Given the description of an element on the screen output the (x, y) to click on. 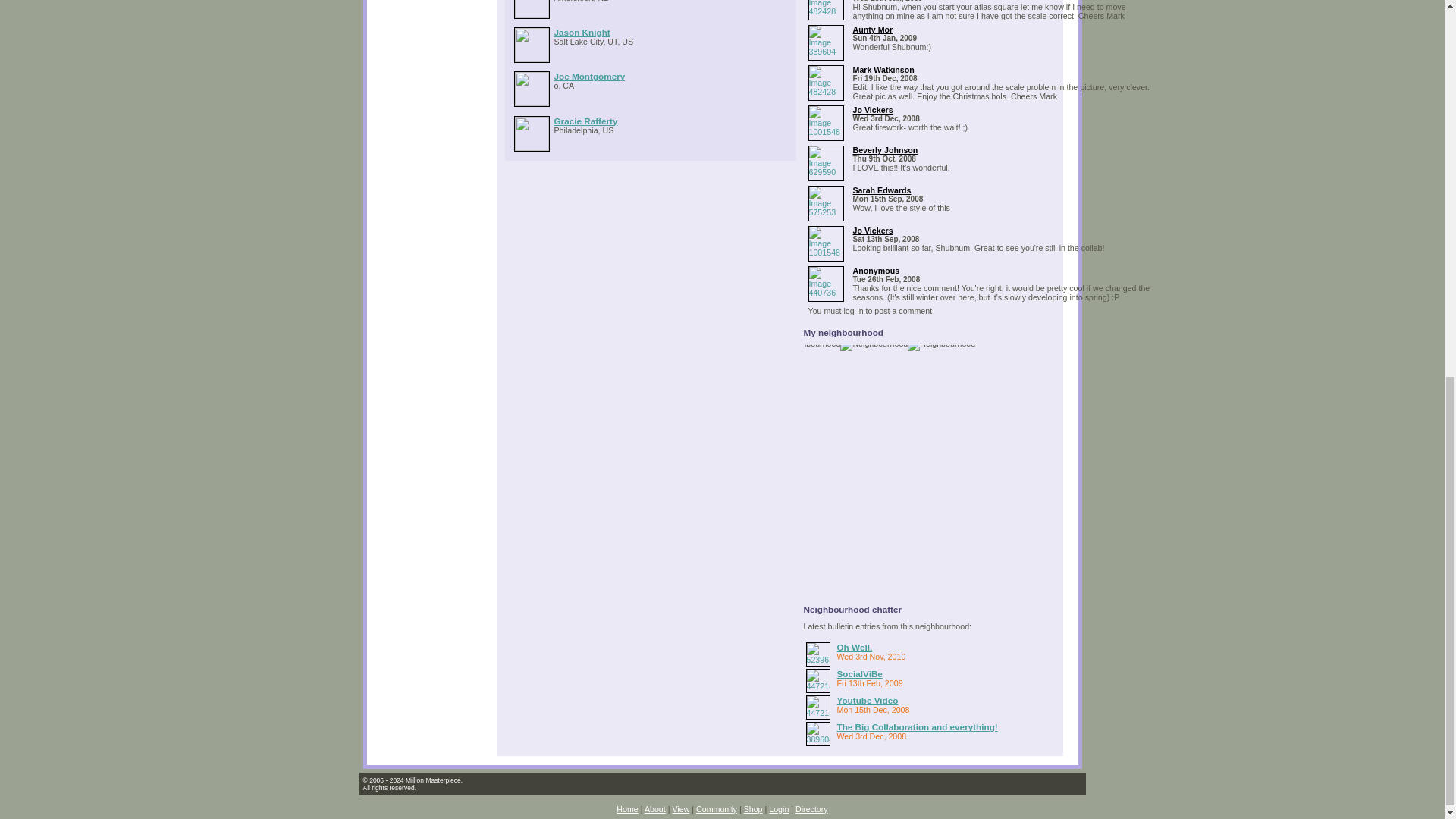
Jason Knight (581, 31)
Joe Montgomery (588, 76)
